Given the description of an element on the screen output the (x, y) to click on. 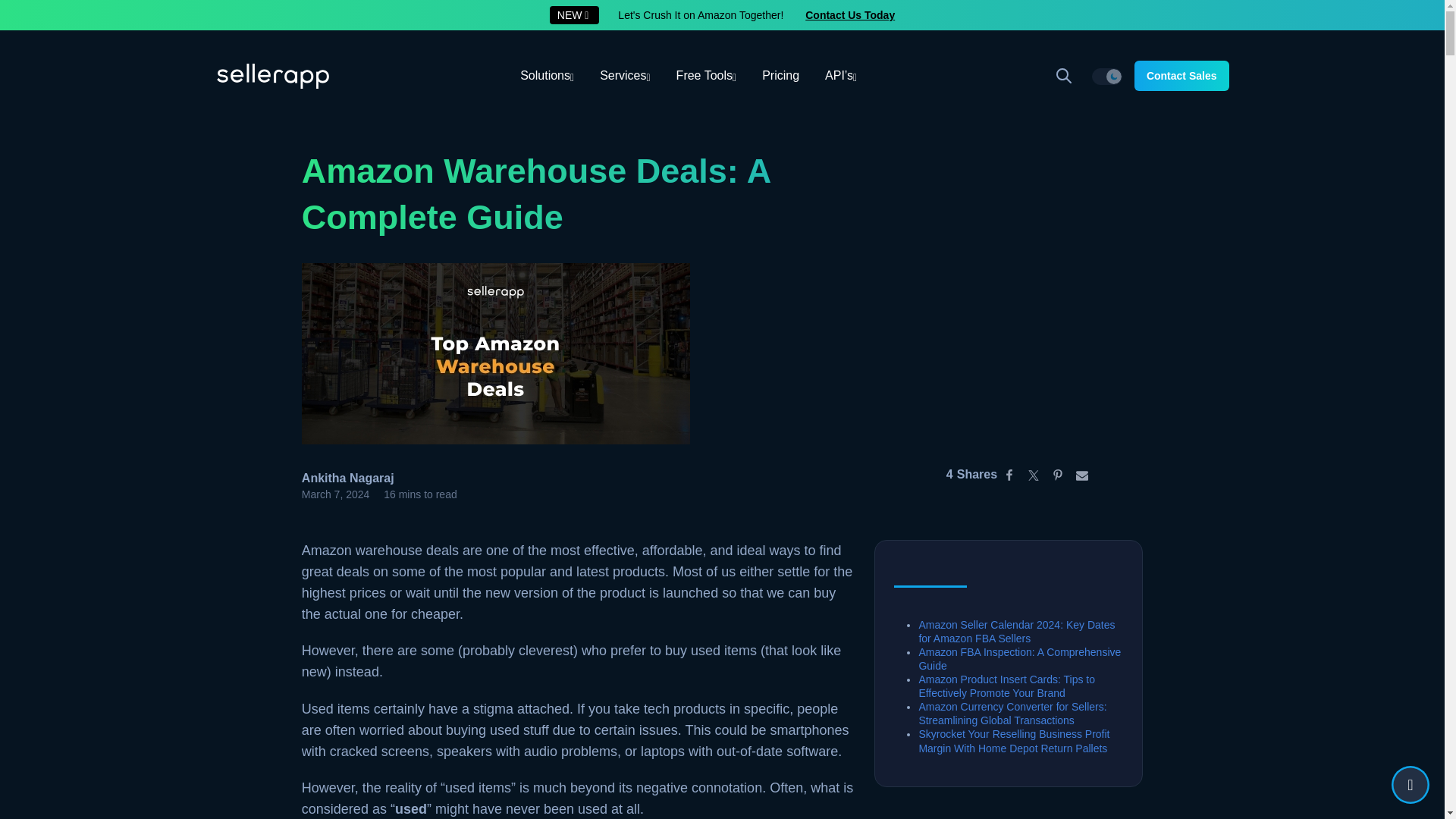
Pricing (780, 75)
Solutions (546, 75)
on (1107, 76)
Free Tools (706, 75)
Contact Sales (1181, 75)
Share on Twitter (1033, 474)
Contact Us Today (850, 15)
Share via Email (1082, 474)
Services (624, 75)
Share on Facebook (1009, 474)
